Given the description of an element on the screen output the (x, y) to click on. 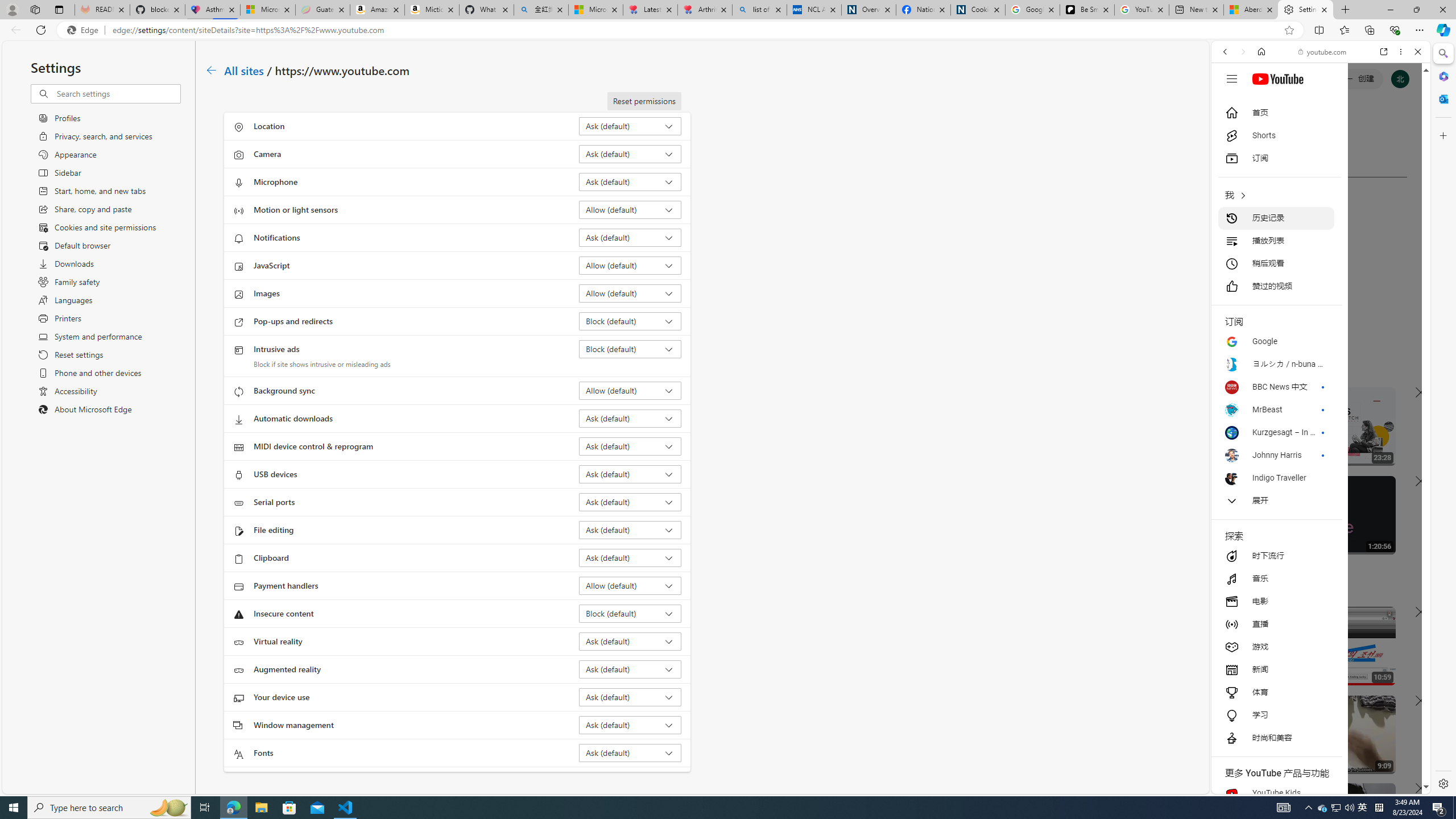
USB devices Ask (default) (630, 474)
Be Smart | creating Science videos | Patreon (1087, 9)
Clipboard Ask (default) (630, 557)
Insecure content Block (default) (630, 613)
Notifications Ask (default) (630, 237)
Google (1275, 341)
Background sync Allow (default) (630, 390)
Shorts (1275, 135)
Search videos from youtube.com (1299, 373)
Music (1320, 309)
